Given the description of an element on the screen output the (x, y) to click on. 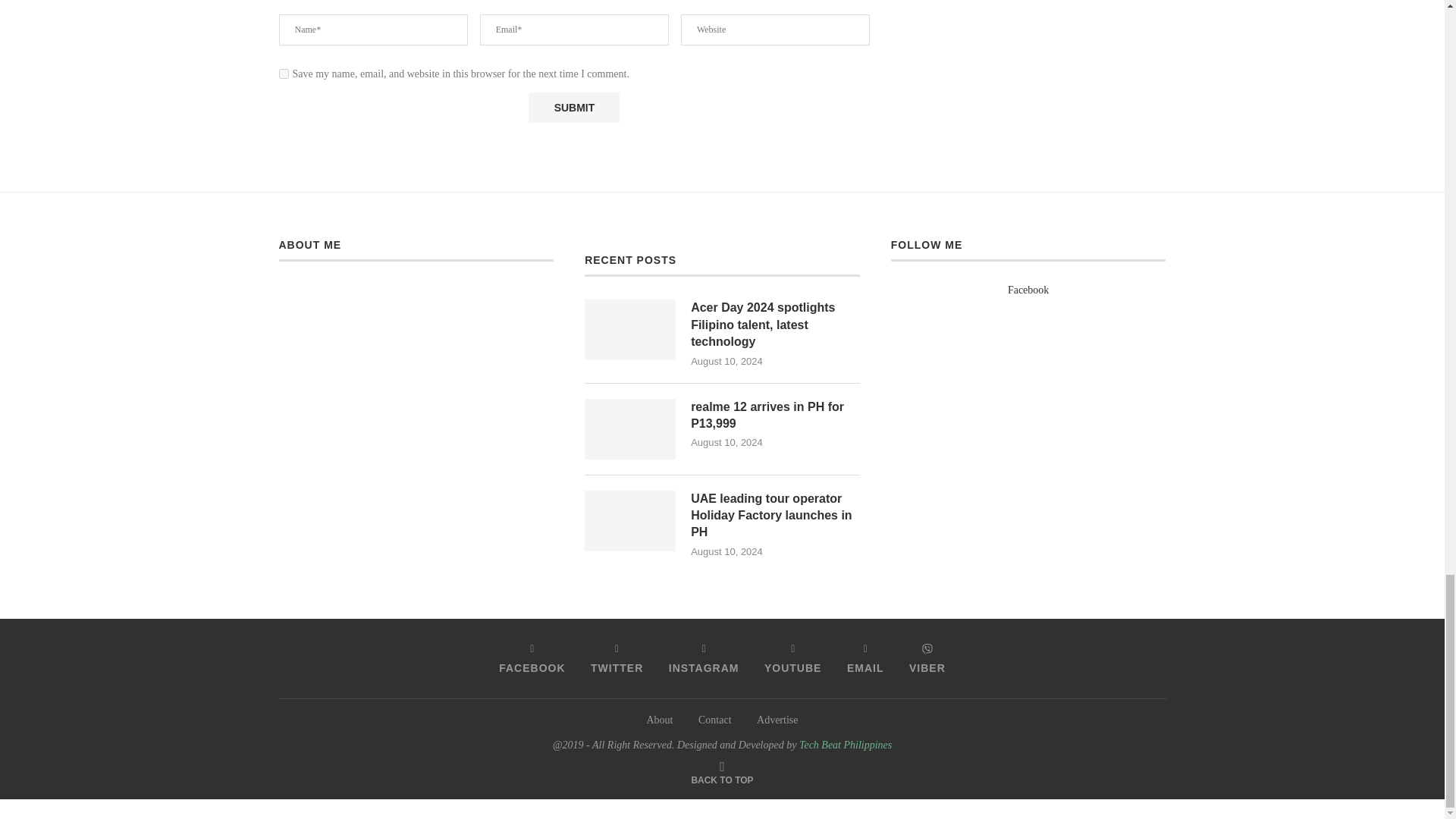
Acer Day 2024 spotlights Filipino talent, latest technology (775, 324)
Submit (574, 107)
realme 12 arrives in PH for P13,999 (630, 428)
yes (283, 73)
Acer Day 2024 spotlights Filipino talent, latest technology (630, 329)
